Given the description of an element on the screen output the (x, y) to click on. 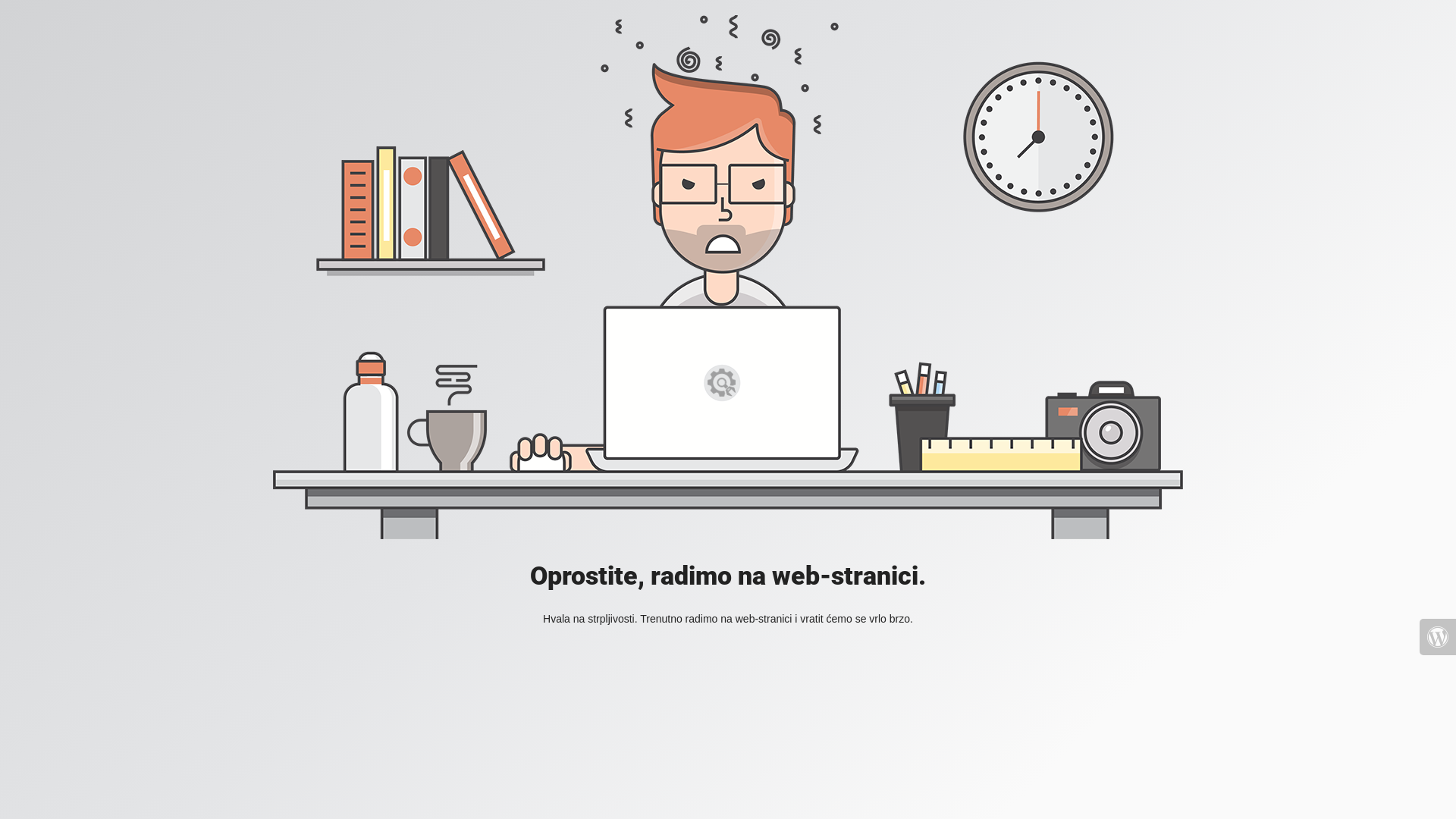
Mad Designer at work Element type: hover (728, 277)
